Given the description of an element on the screen output the (x, y) to click on. 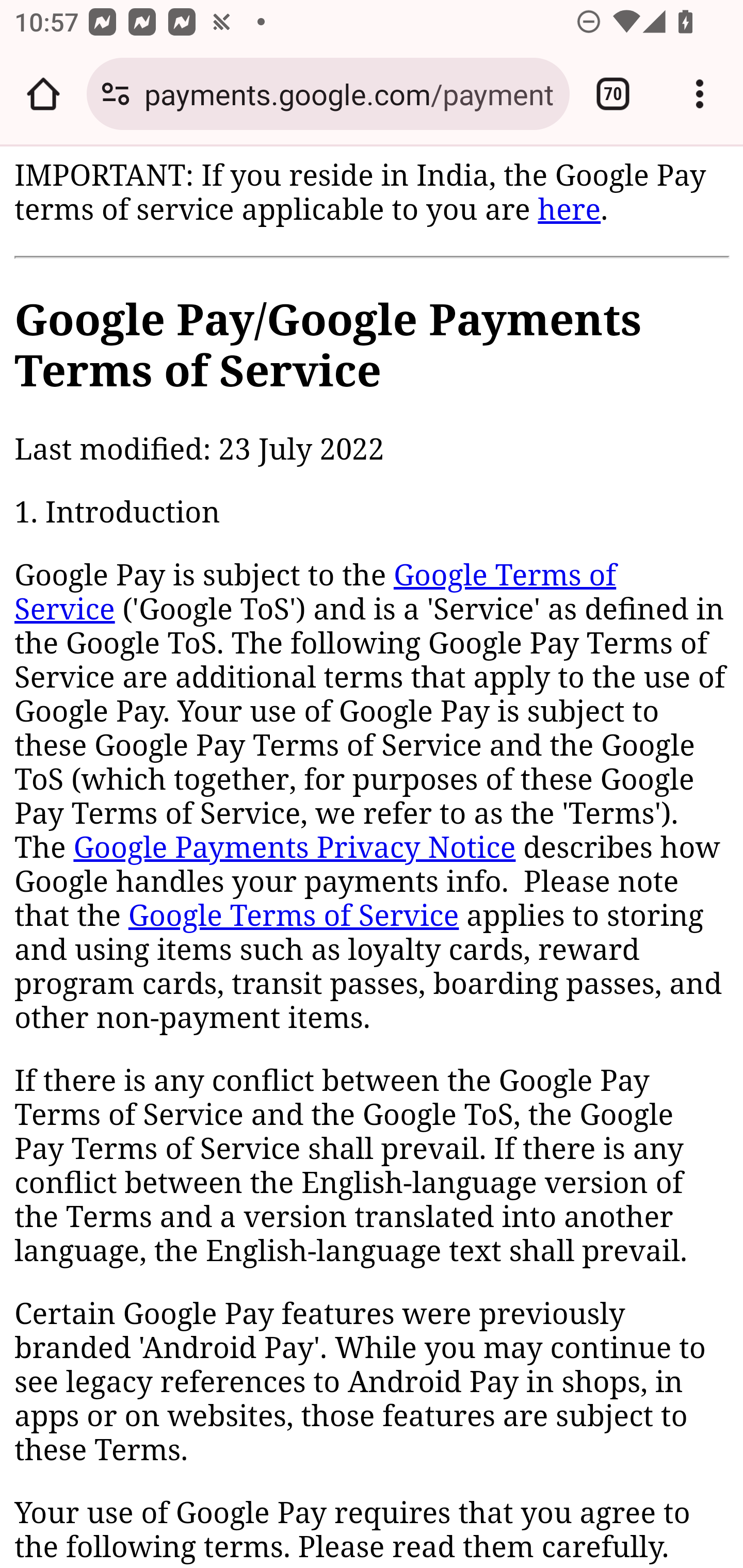
Open the home page (43, 93)
Connection is secure (115, 93)
Switch or close tabs (612, 93)
Customize and control Google Chrome (699, 93)
here (568, 209)
Google Terms of Service (315, 593)
Google Payments Privacy Notice (294, 849)
Google Terms of Service (292, 916)
